Given the description of an element on the screen output the (x, y) to click on. 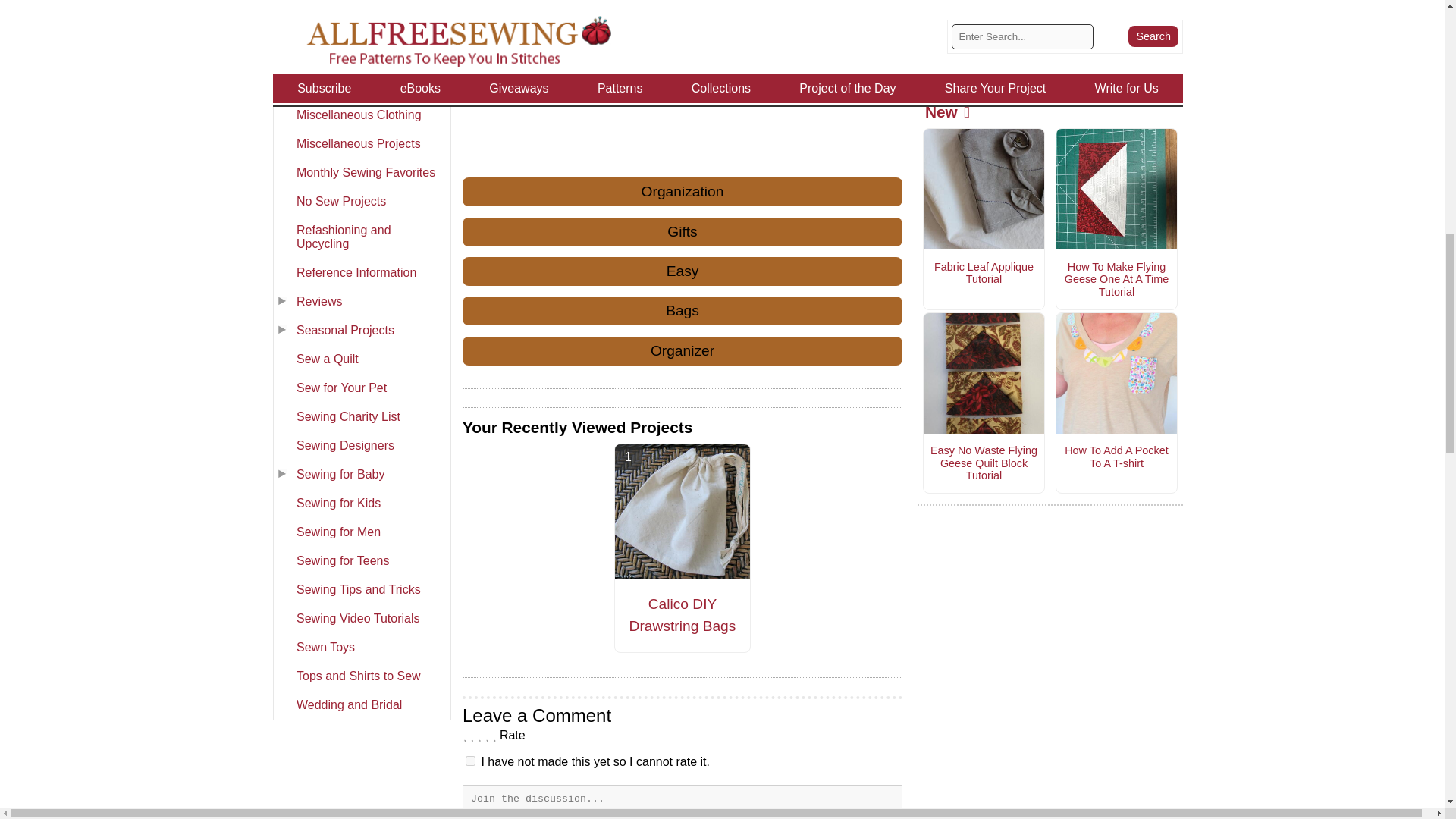
1 (470, 760)
Insticator Content Engagement Unit (576, 74)
